Given the description of an element on the screen output the (x, y) to click on. 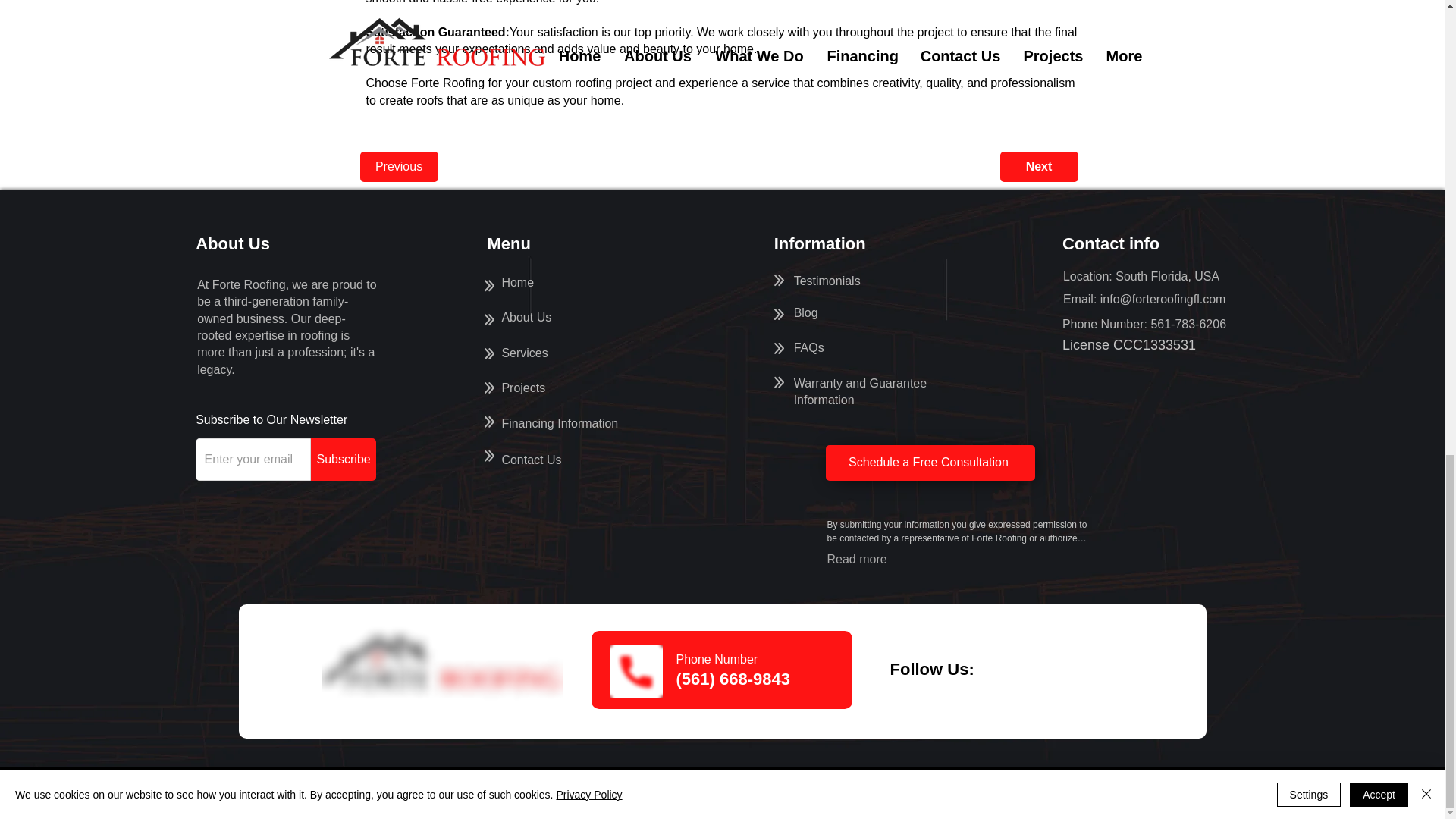
FAQs (808, 347)
Read more (856, 559)
Next (1037, 166)
Subscribe (860, 391)
Testimonials (343, 459)
Home (826, 280)
Services (517, 282)
Blog (523, 352)
Financing Information (805, 312)
Contact Us (558, 422)
About Us (530, 459)
Projects (525, 317)
Previous (522, 387)
561-783-6206 (398, 166)
